Given the description of an element on the screen output the (x, y) to click on. 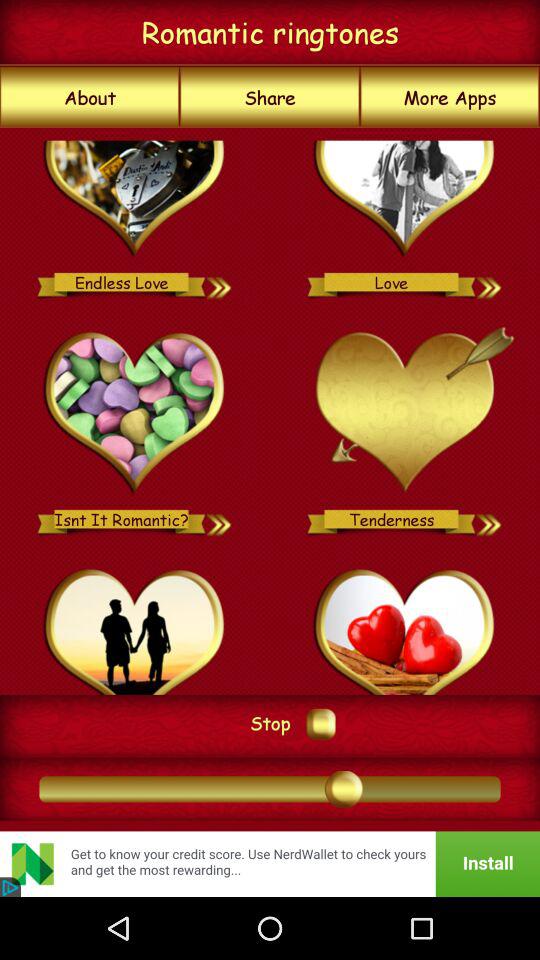
turn off share item (270, 97)
